Given the description of an element on the screen output the (x, y) to click on. 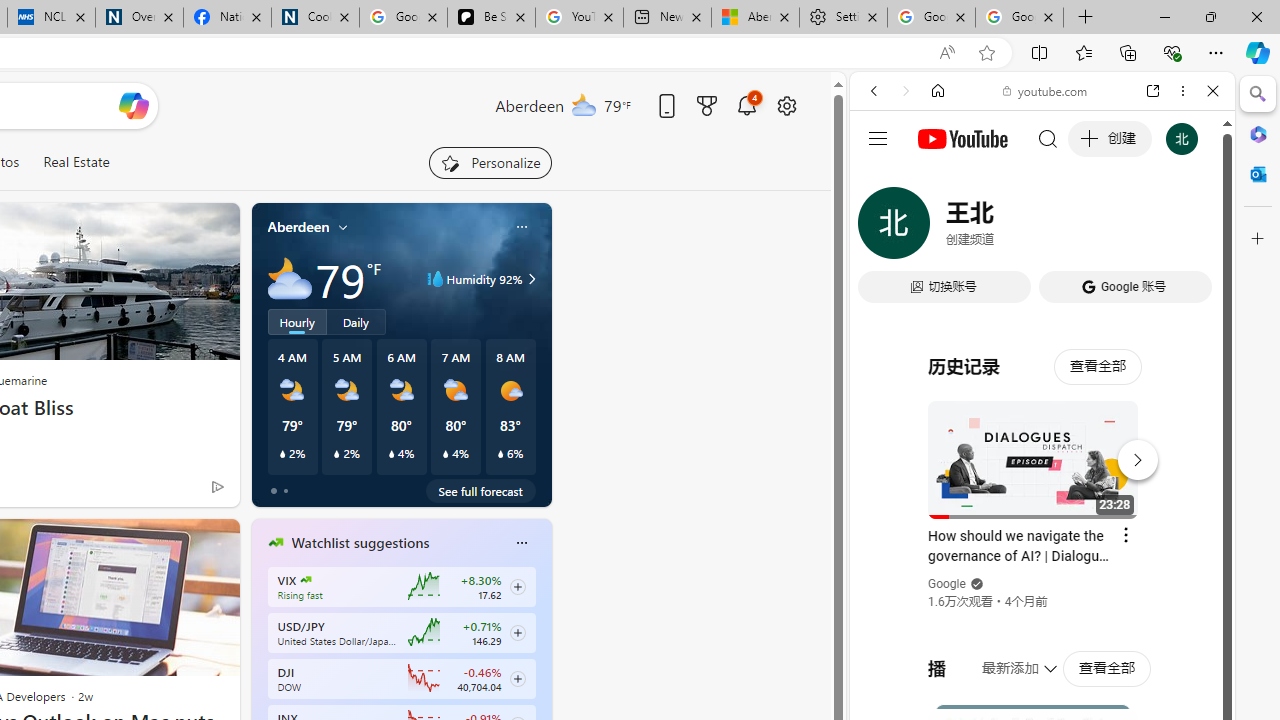
Cookies (315, 17)
